Given the description of an element on the screen output the (x, y) to click on. 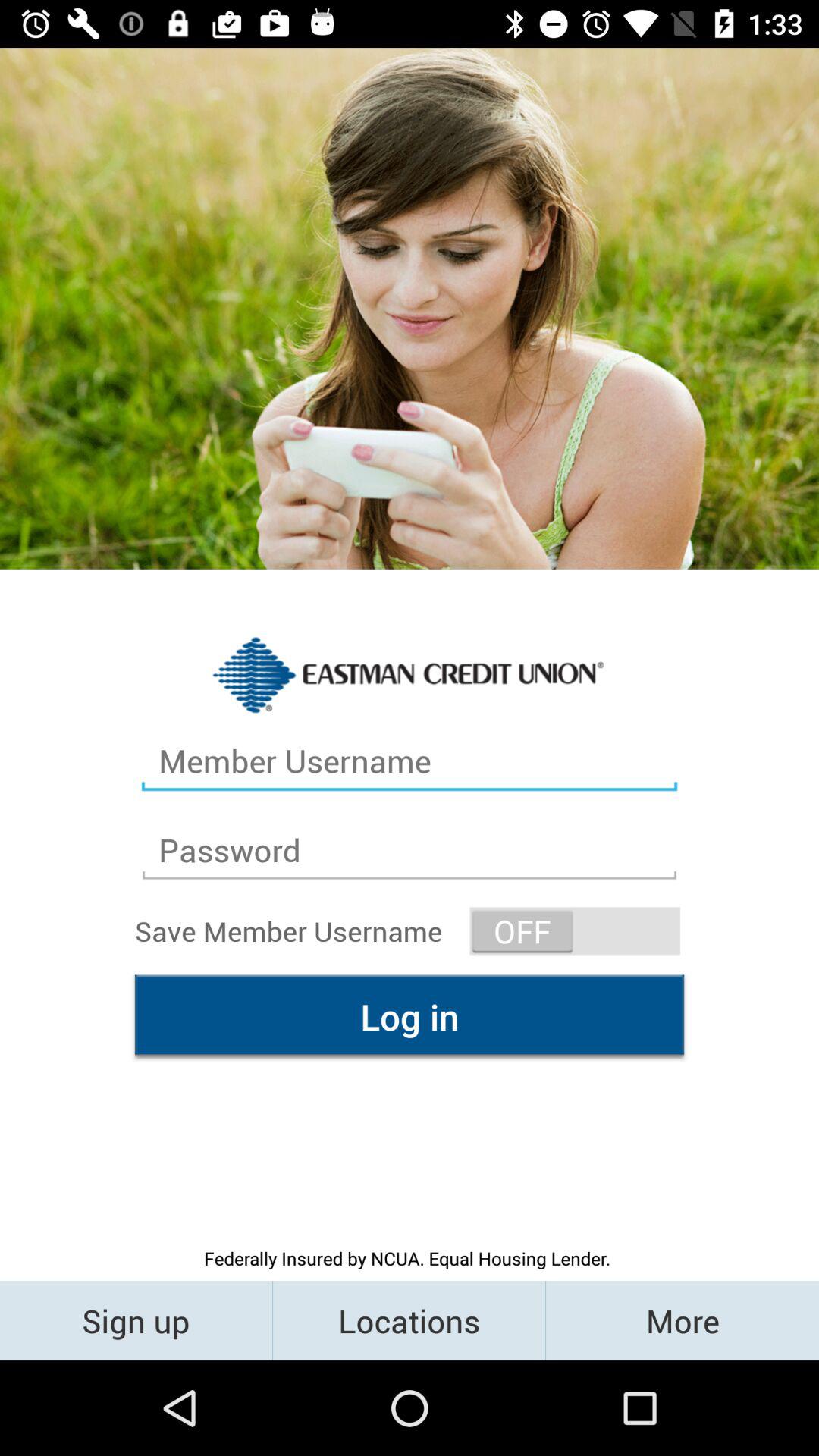
select the locations item (409, 1320)
